Given the description of an element on the screen output the (x, y) to click on. 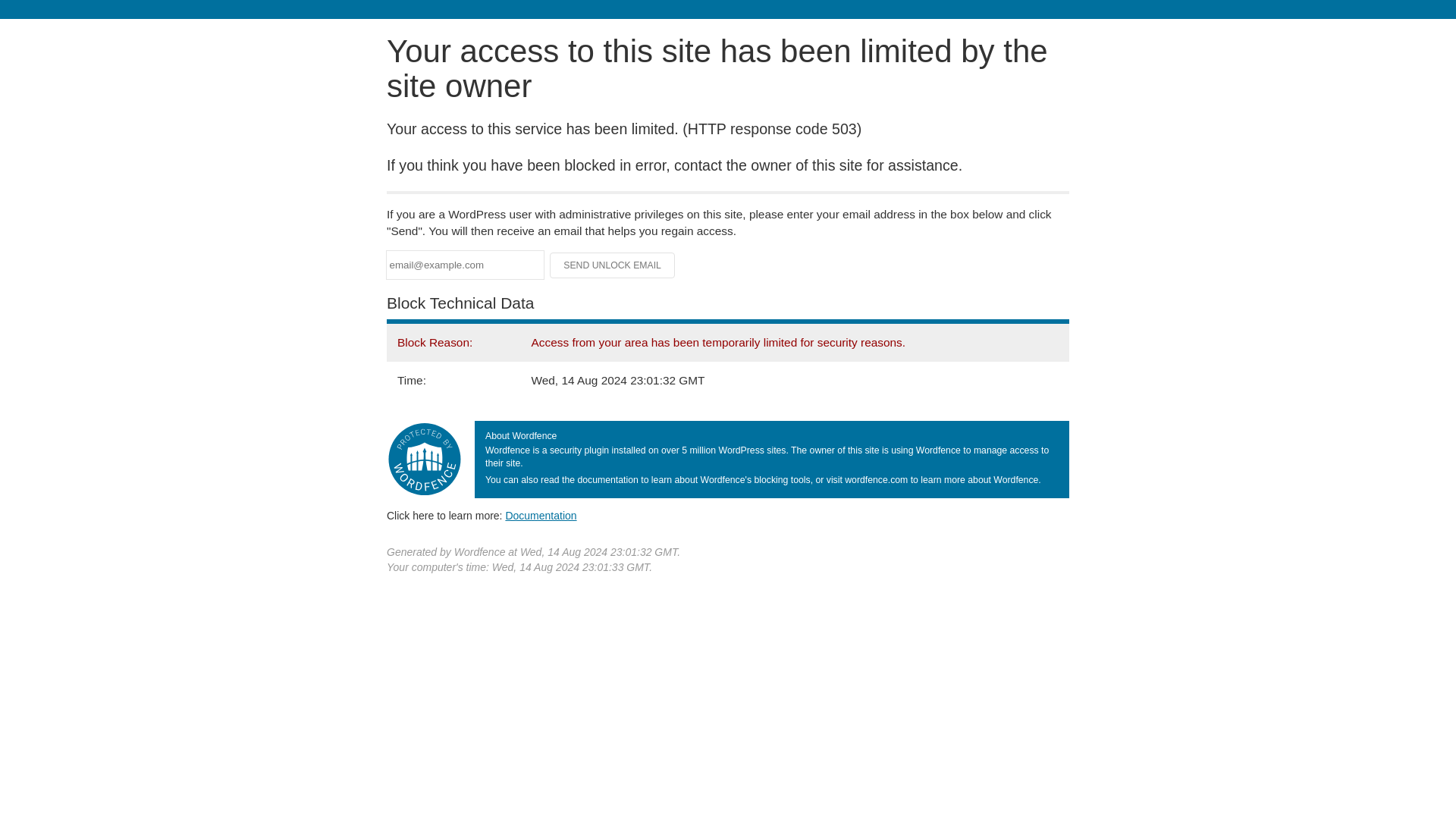
Send Unlock Email (612, 265)
Documentation (540, 515)
Send Unlock Email (612, 265)
